Given the description of an element on the screen output the (x, y) to click on. 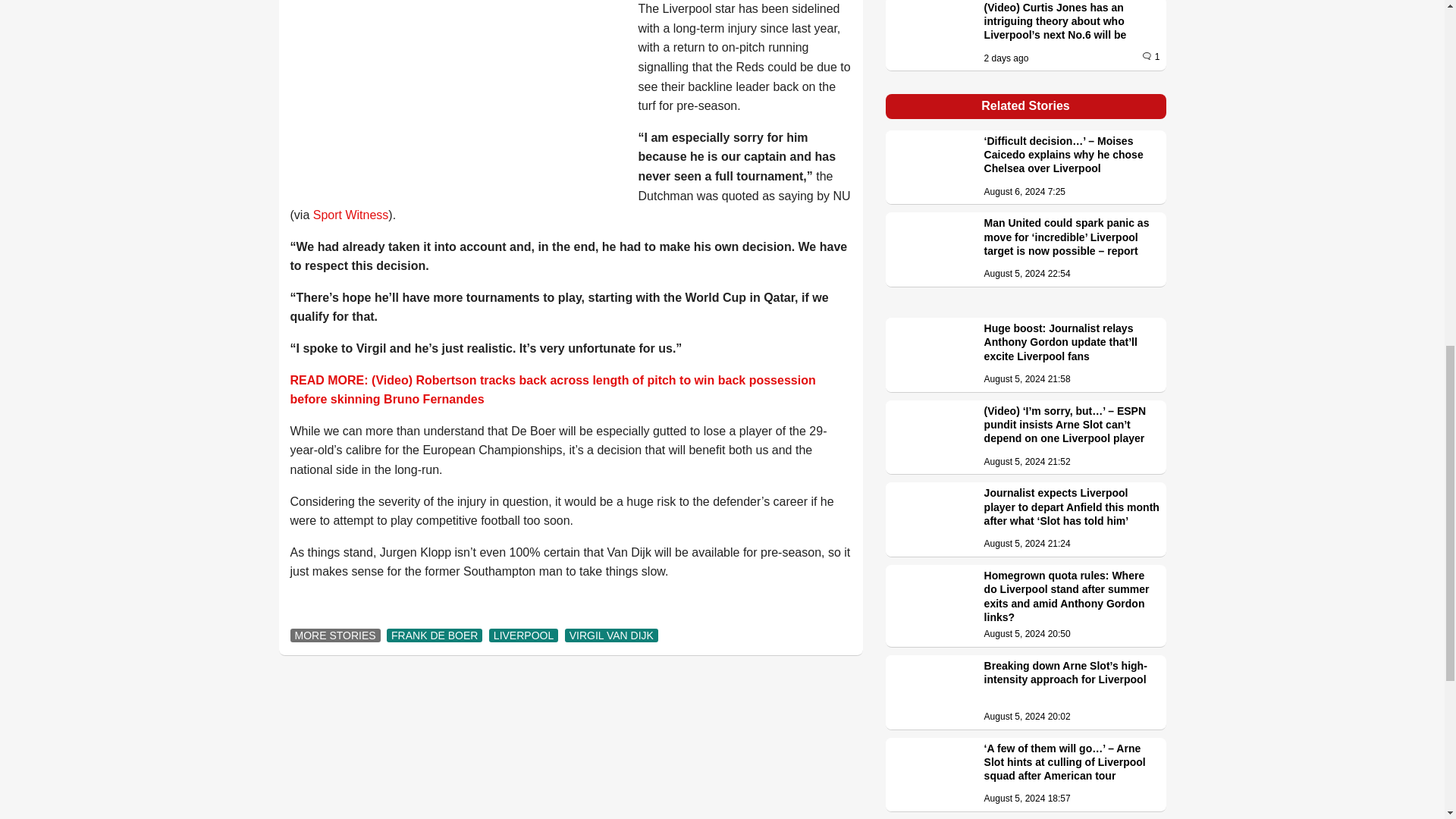
Sport Witness (350, 214)
